Given the description of an element on the screen output the (x, y) to click on. 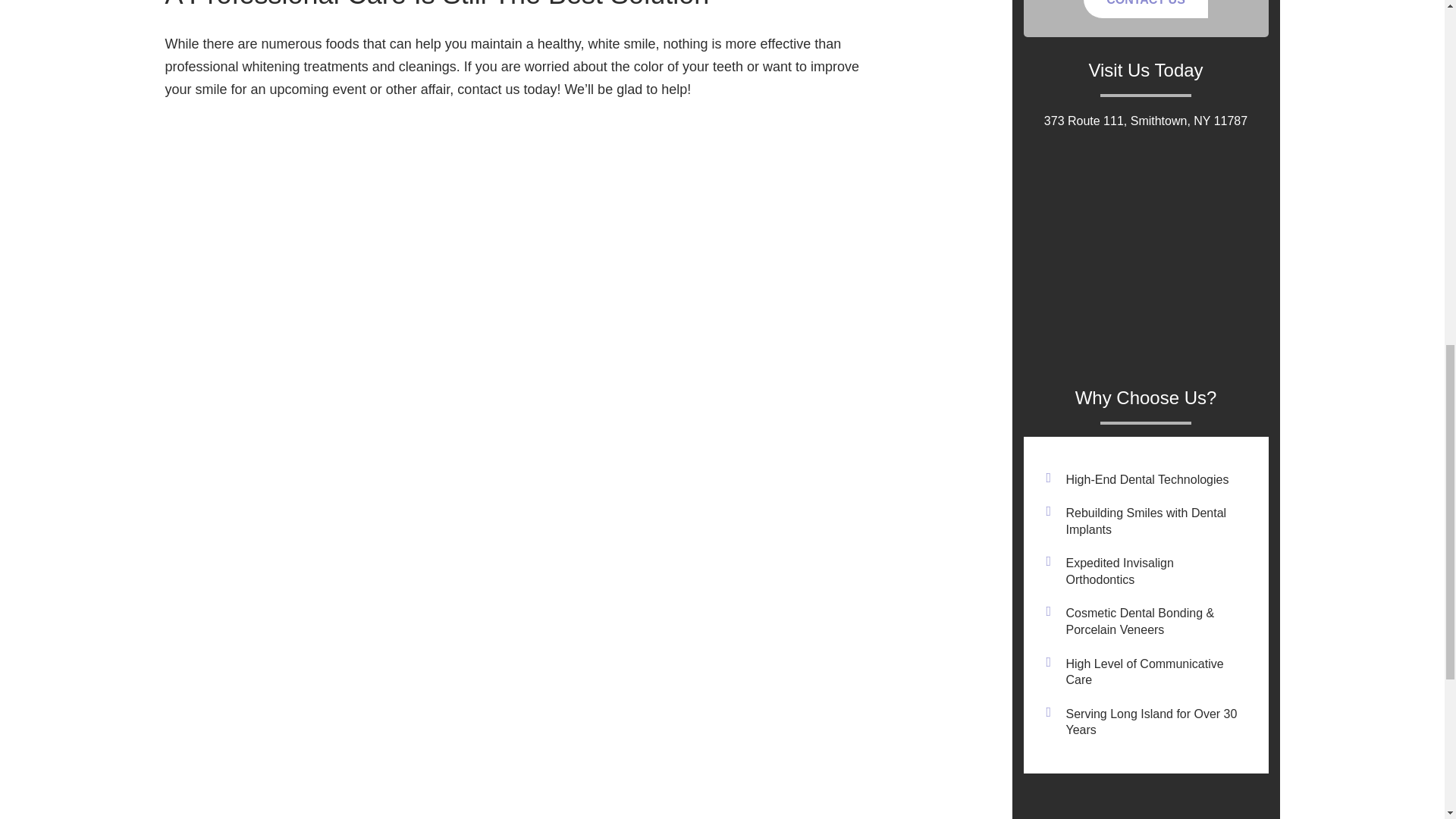
Contact Us (1145, 9)
